Given the description of an element on the screen output the (x, y) to click on. 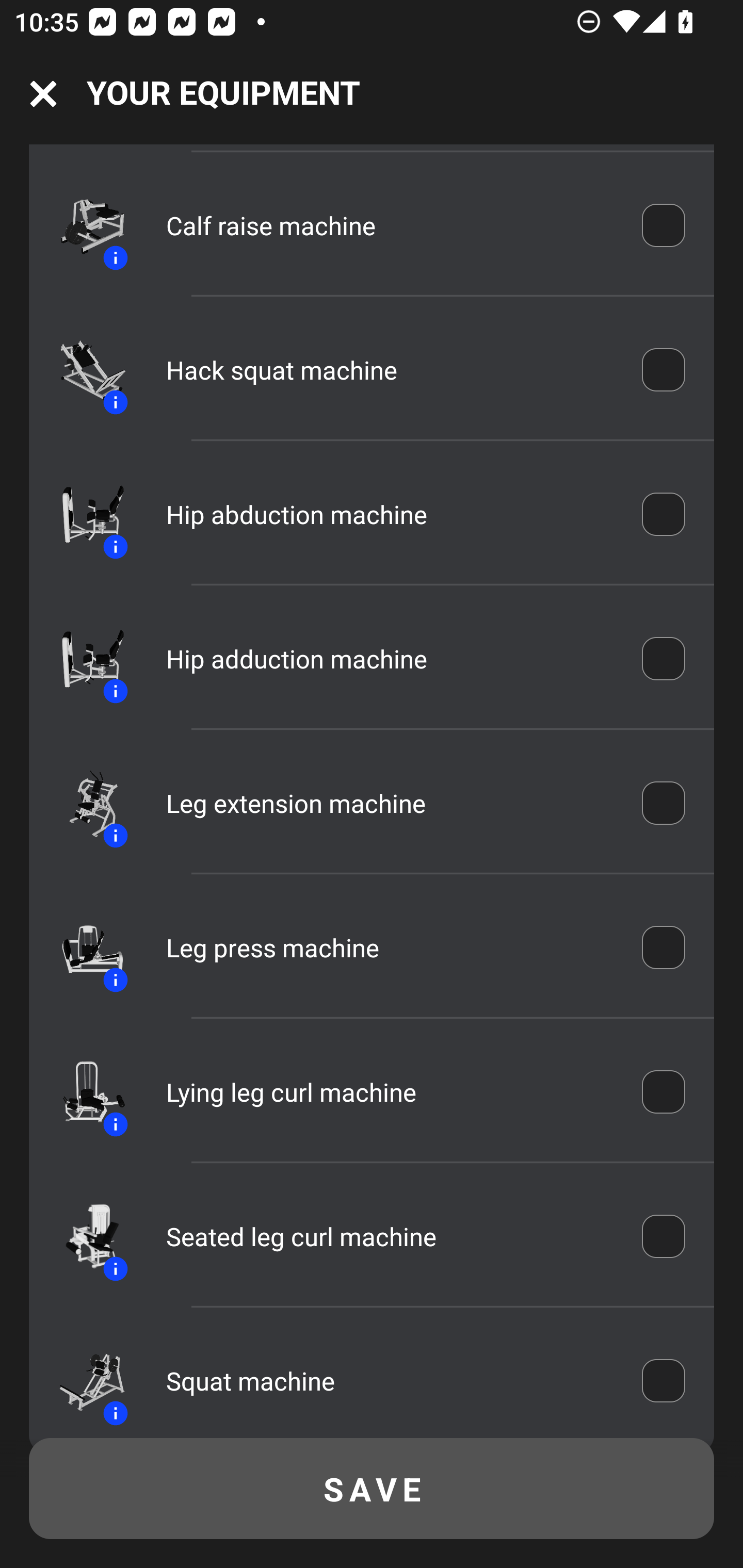
Navigation icon (43, 93)
Equipment icon Information icon (82, 224)
Calf raise machine (389, 224)
Equipment icon Information icon (82, 369)
Hack squat machine (389, 369)
Equipment icon Information icon (82, 513)
Hip abduction machine (389, 514)
Equipment icon Information icon (82, 659)
Hip adduction machine (389, 658)
Equipment icon Information icon (82, 803)
Leg extension machine (389, 803)
Equipment icon Information icon (82, 947)
Leg press machine (389, 947)
Equipment icon Information icon (82, 1092)
Lying leg curl machine (389, 1091)
Equipment icon Information icon (82, 1236)
Seated leg curl machine (389, 1236)
Equipment icon Information icon (82, 1380)
Squat machine (389, 1380)
SAVE (371, 1488)
